Given the description of an element on the screen output the (x, y) to click on. 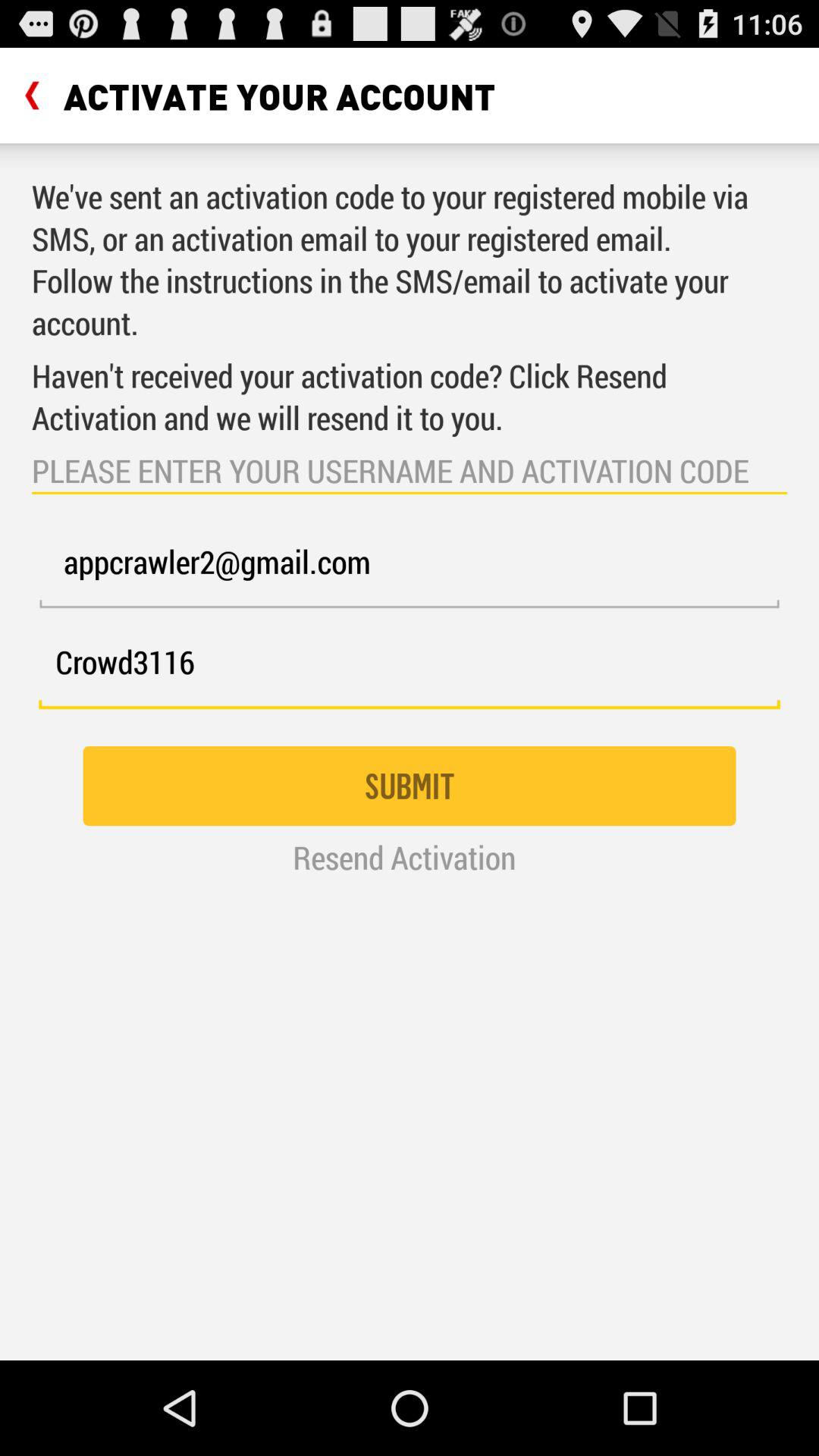
launch icon above the submit (409, 671)
